Given the description of an element on the screen output the (x, y) to click on. 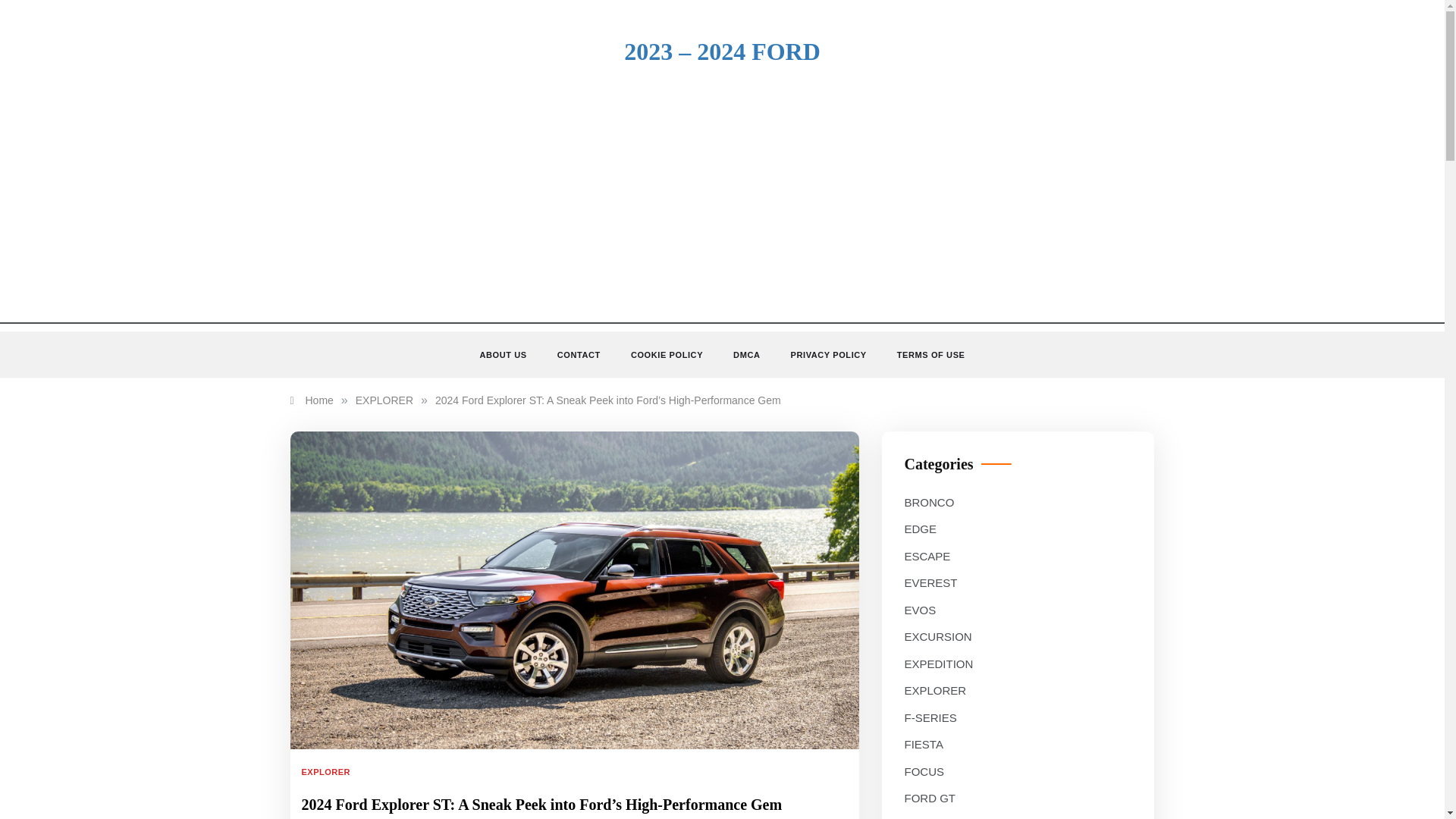
F-SERIES (930, 718)
ESCAPE (927, 556)
EVEREST (930, 582)
EXPEDITION (938, 664)
CONTACT (578, 354)
EDGE (920, 528)
EVOS (920, 609)
ABOUT US (510, 354)
TERMS OF USE (923, 354)
FOCUS (923, 772)
